Given the description of an element on the screen output the (x, y) to click on. 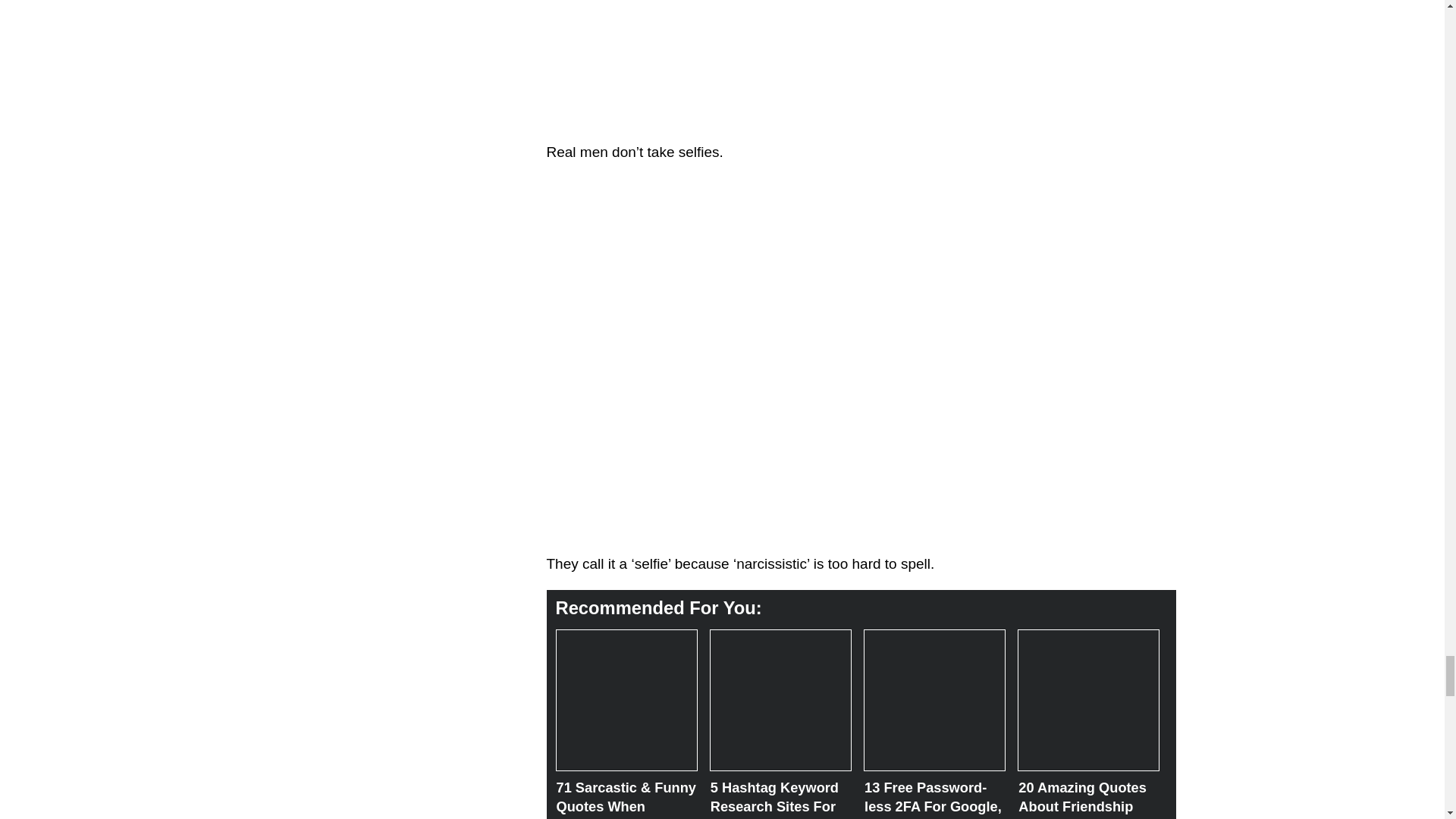
20 Amazing Quotes About Friendship Love and Friends (1084, 696)
